Given the description of an element on the screen output the (x, y) to click on. 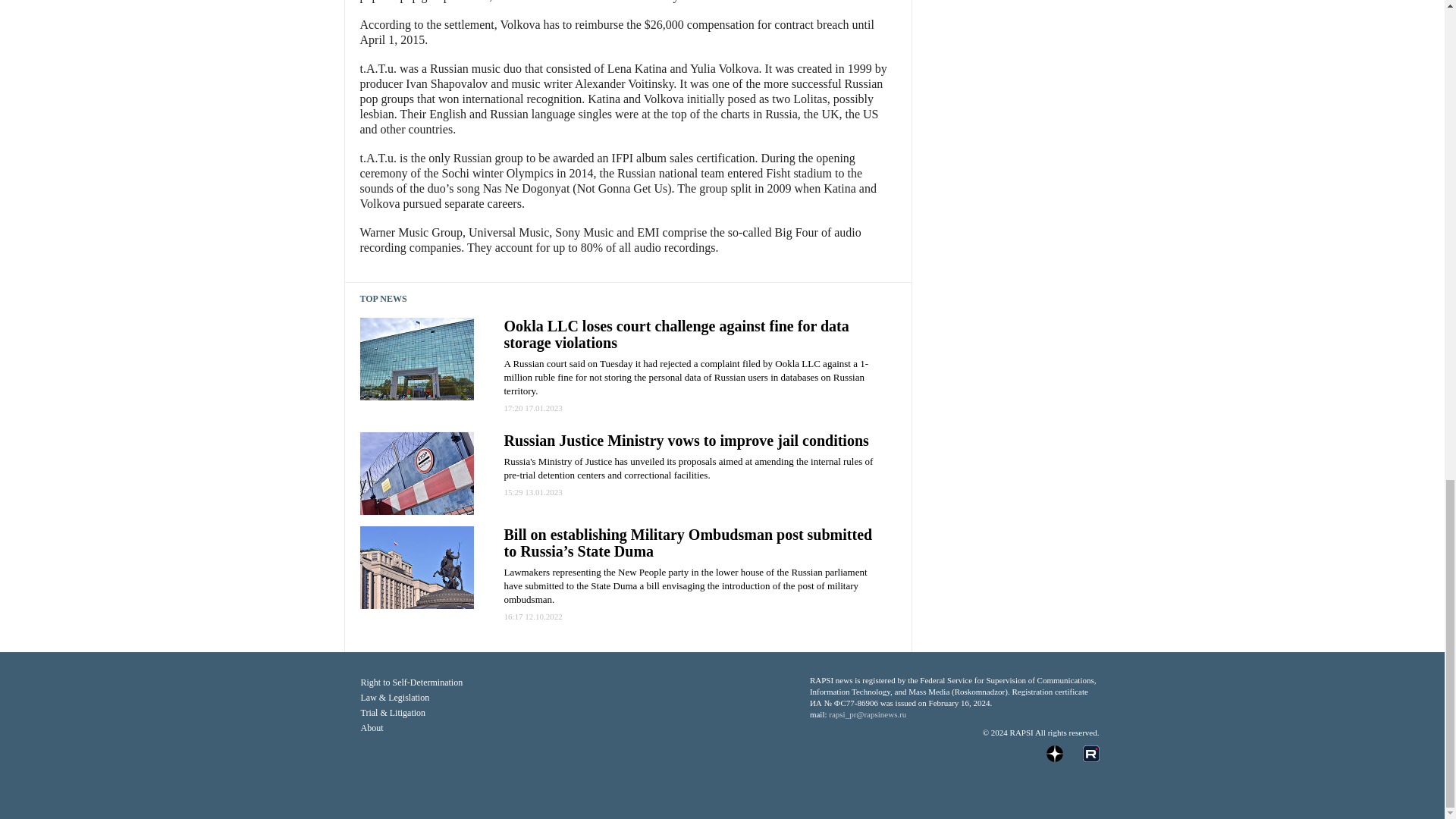
Russian Justice Ministry vows to improve jail conditions (685, 440)
Right to Self-Determination (577, 682)
About (577, 727)
